Given the description of an element on the screen output the (x, y) to click on. 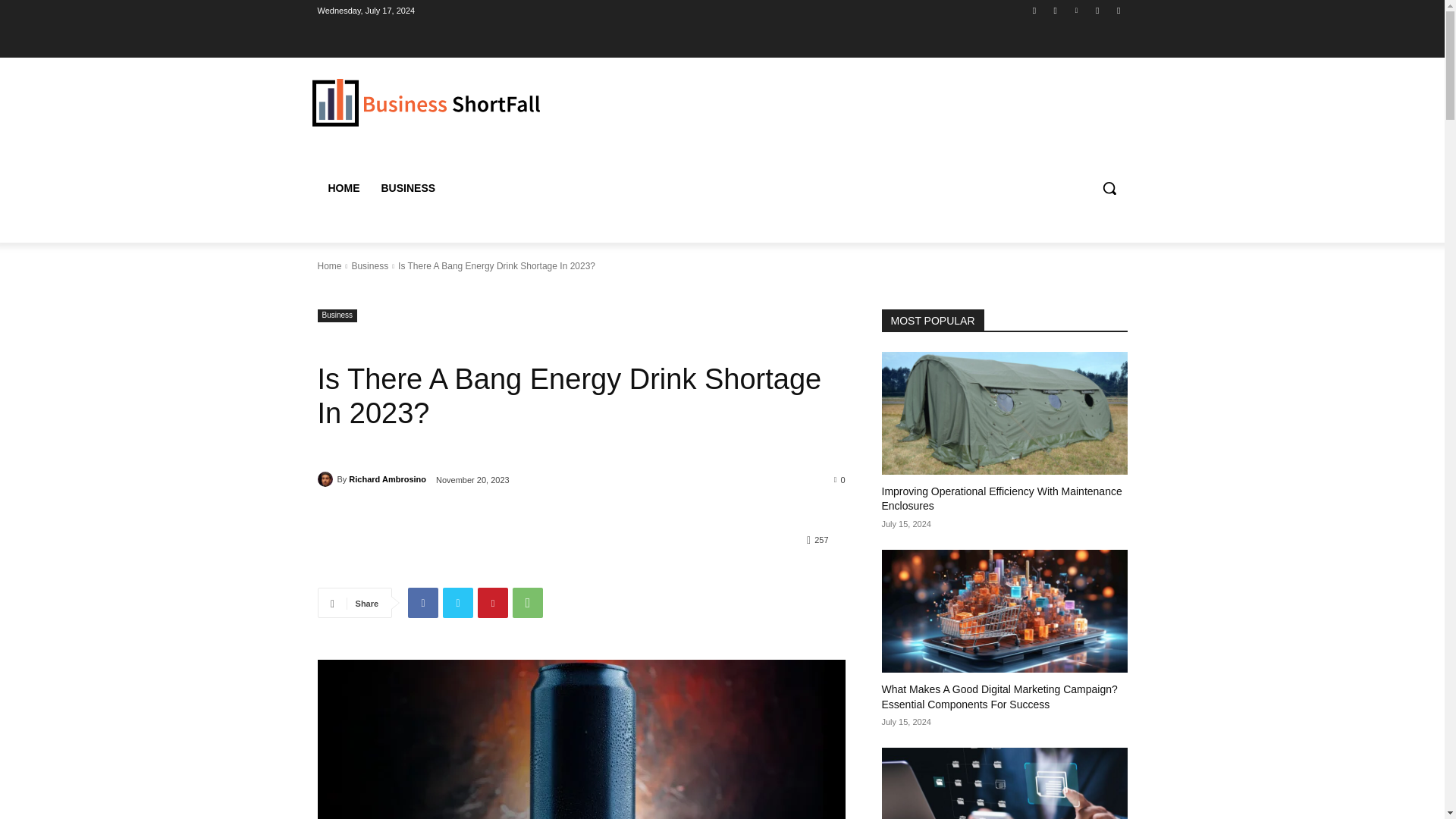
Richard Ambrosino (326, 478)
Youtube (1117, 9)
Linkedin (1075, 9)
Facebook (1034, 9)
HOME (343, 187)
0 (839, 479)
Instagram (1055, 9)
Richard Ambrosino (387, 478)
Business (336, 315)
View all posts in Business (369, 266)
